Given the description of an element on the screen output the (x, y) to click on. 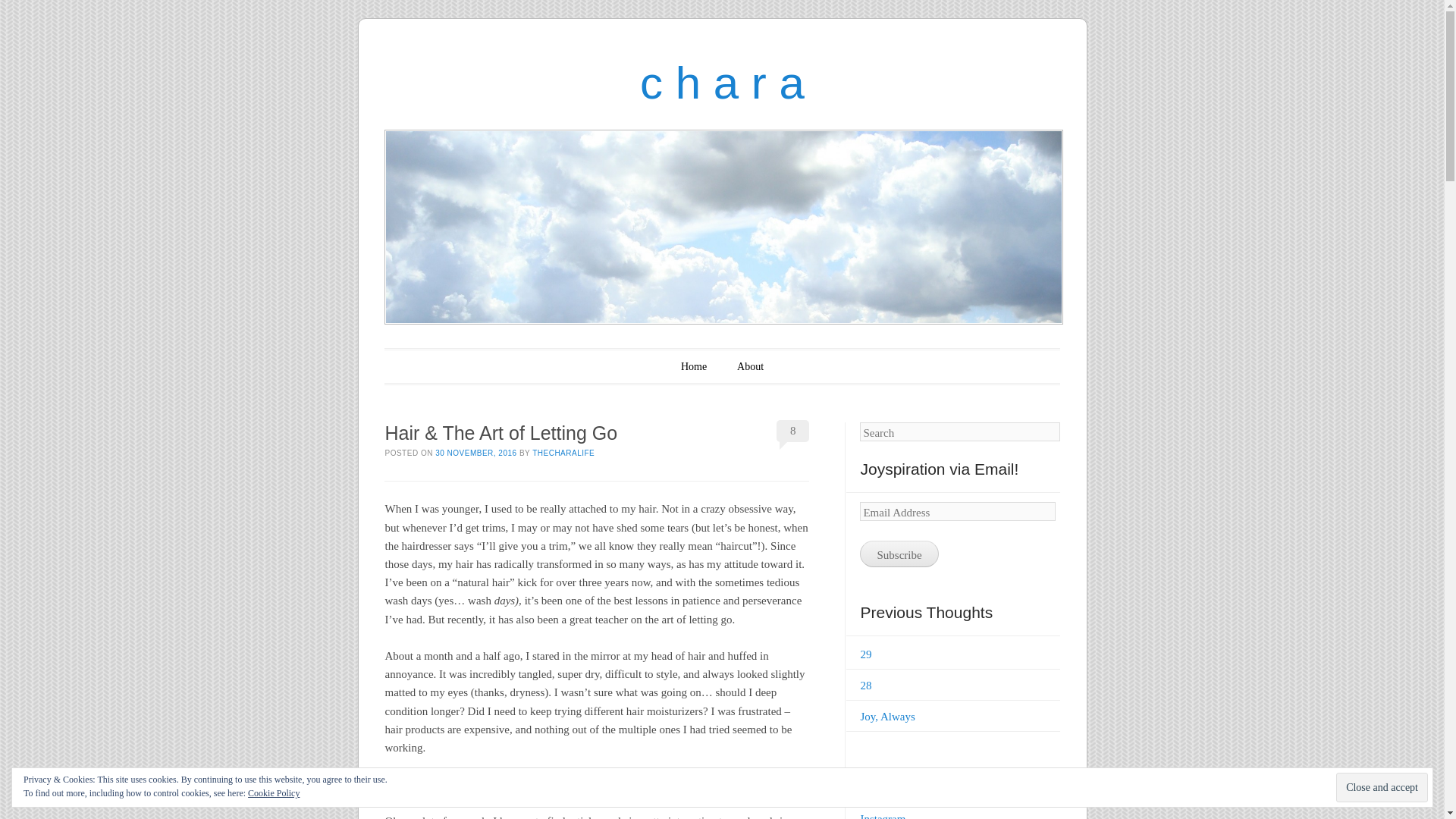
Skip to content (433, 366)
View all posts by thecharalife (563, 452)
Home (693, 366)
8 (792, 431)
Close and accept (1382, 787)
Skip to content (433, 366)
c h a r a (722, 82)
About (750, 366)
5:37 PM (475, 452)
30 NOVEMBER, 2016 (475, 452)
c h a r a (722, 82)
THECHARALIFE (563, 452)
